Given the description of an element on the screen output the (x, y) to click on. 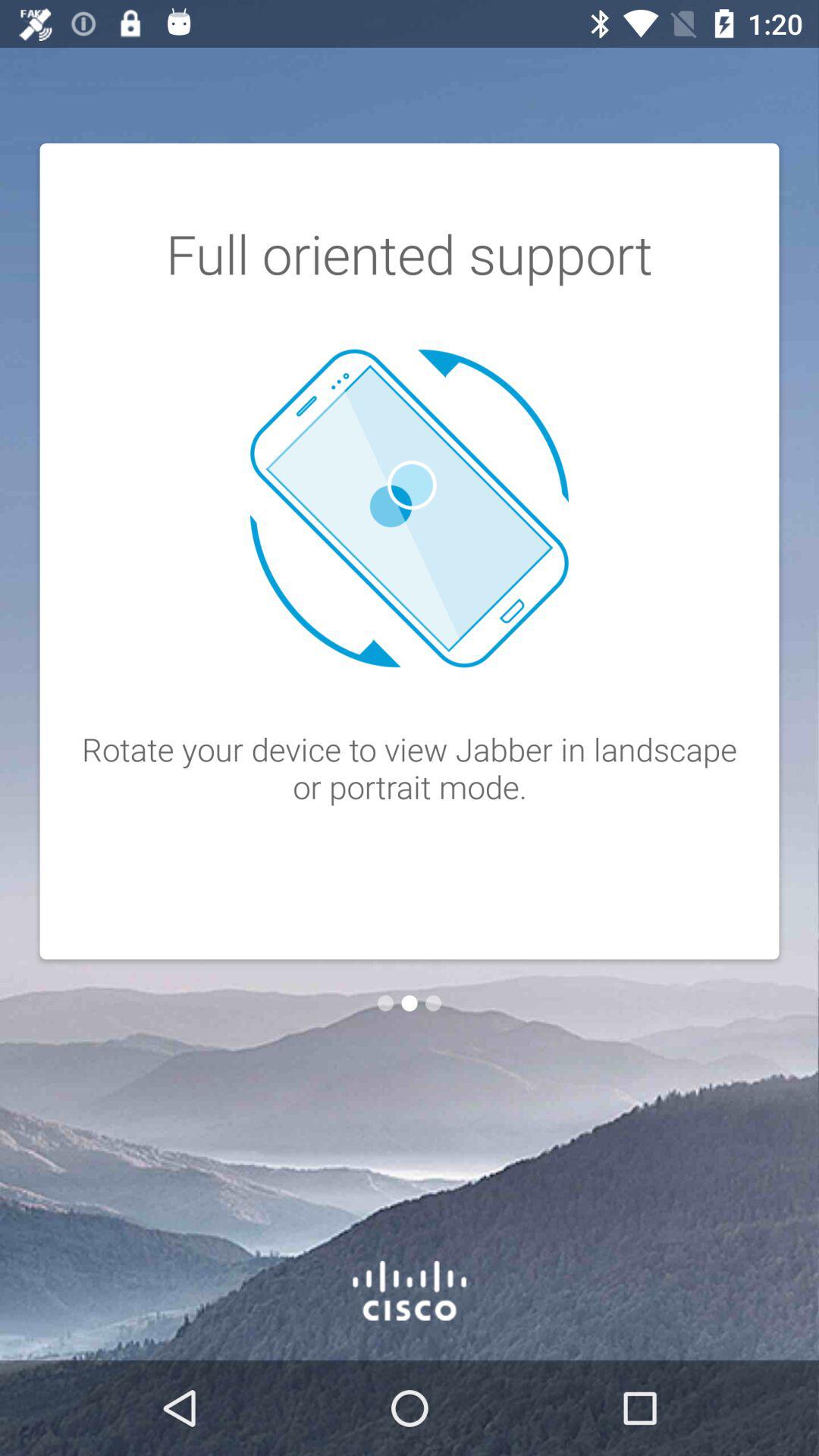
back (385, 1003)
